Given the description of an element on the screen output the (x, y) to click on. 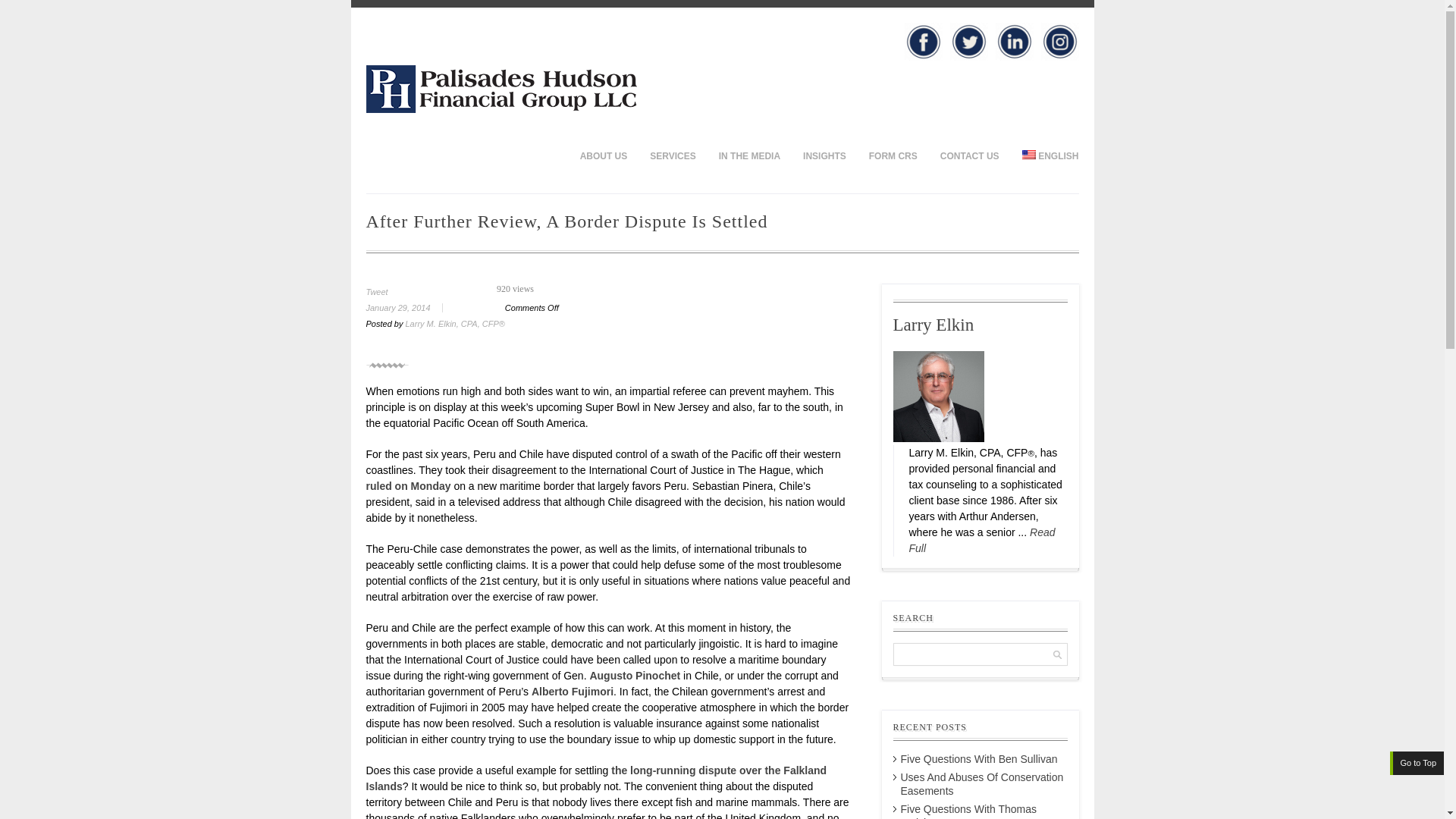
English (1044, 155)
Palisades Hudson Financial Group (500, 109)
SERVICES (672, 155)
9:00 am (408, 307)
IN THE MEDIA (749, 155)
Twitter (968, 41)
FORM CRS (892, 155)
ruled on Monday (407, 485)
Alberto Fujimori (571, 691)
English (1028, 153)
January 29, 2014 (408, 307)
Augusto Pinochet (634, 675)
CONTACT US (969, 155)
Facebook (923, 41)
the long-running dispute over the Falkland Islands (596, 778)
